Given the description of an element on the screen output the (x, y) to click on. 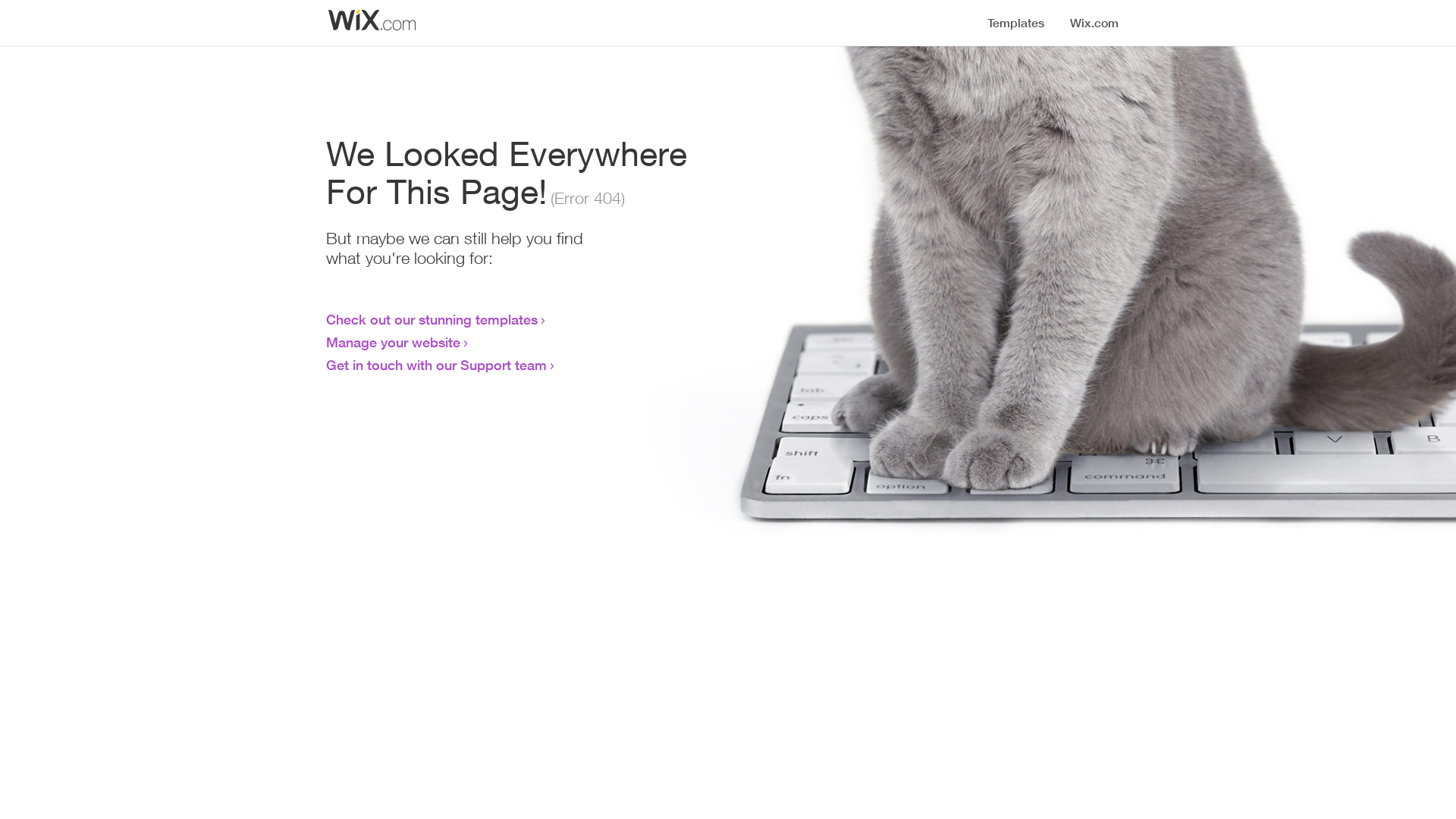
Get in touch with our Support team Element type: text (436, 364)
Check out our stunning templates Element type: text (431, 318)
Manage your website Element type: text (393, 341)
